Given the description of an element on the screen output the (x, y) to click on. 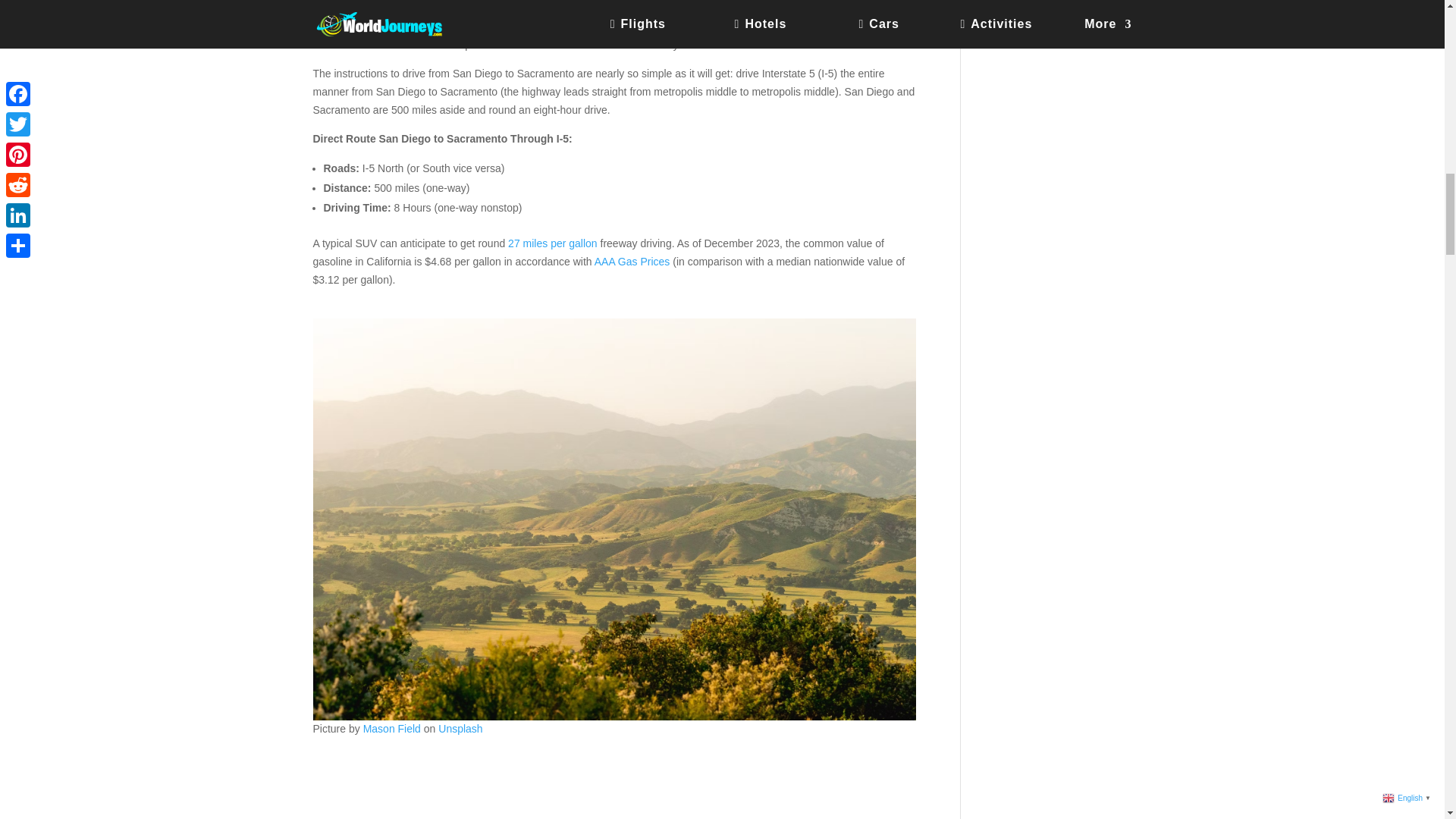
27 miles per gallon (552, 243)
Mason Field (391, 728)
Unsplash (459, 728)
AAA Gas Prices (631, 261)
